Given the description of an element on the screen output the (x, y) to click on. 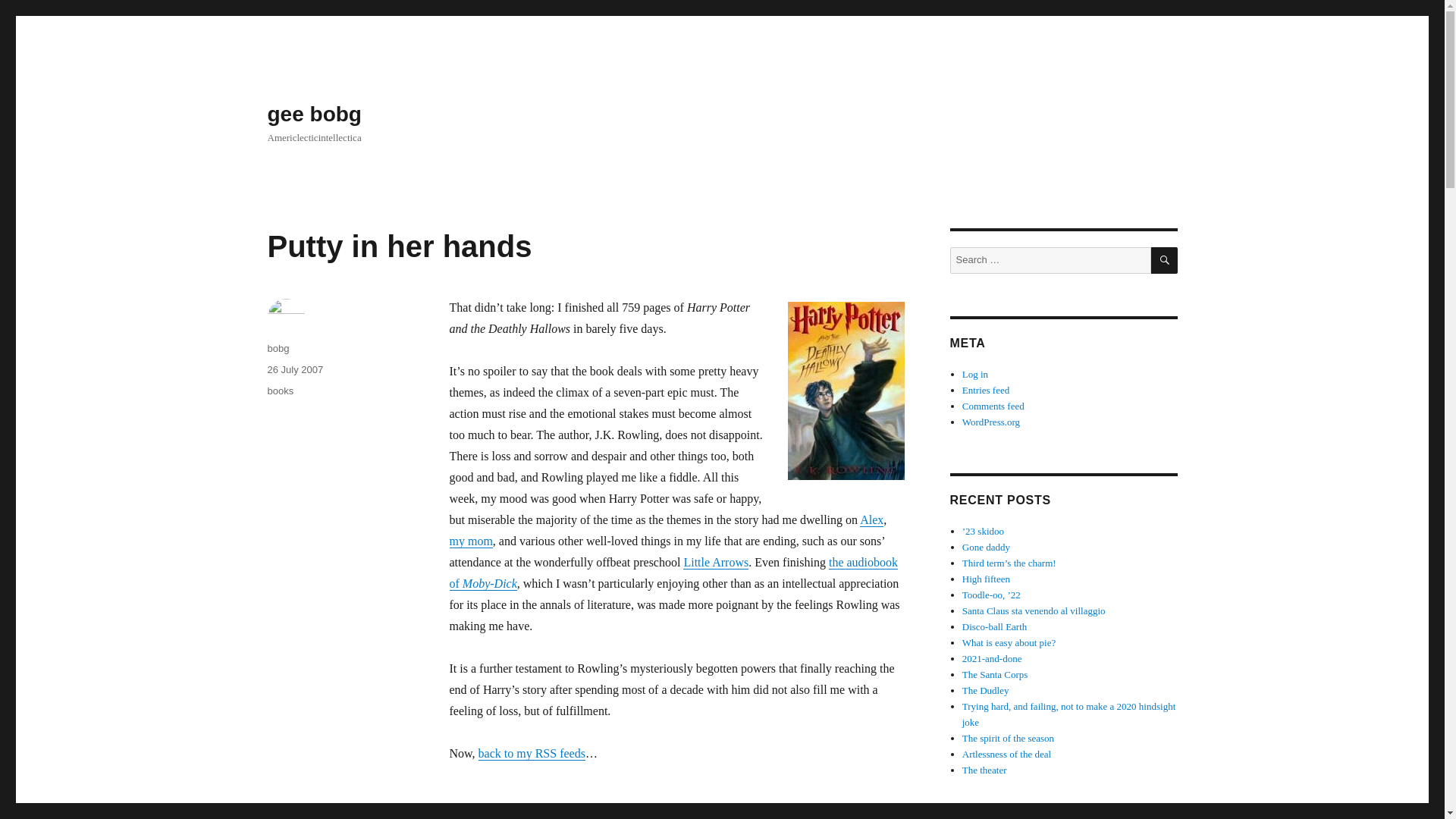
WordPress.org (991, 421)
The Santa Corps (994, 674)
Little Arrows (715, 562)
Gone daddy (986, 546)
back to my RSS feeds (532, 753)
26 July 2007 (294, 369)
my mom (470, 540)
Entries feed (985, 389)
Artlessness of the deal (1006, 754)
SEARCH (1164, 260)
